Given the description of an element on the screen output the (x, y) to click on. 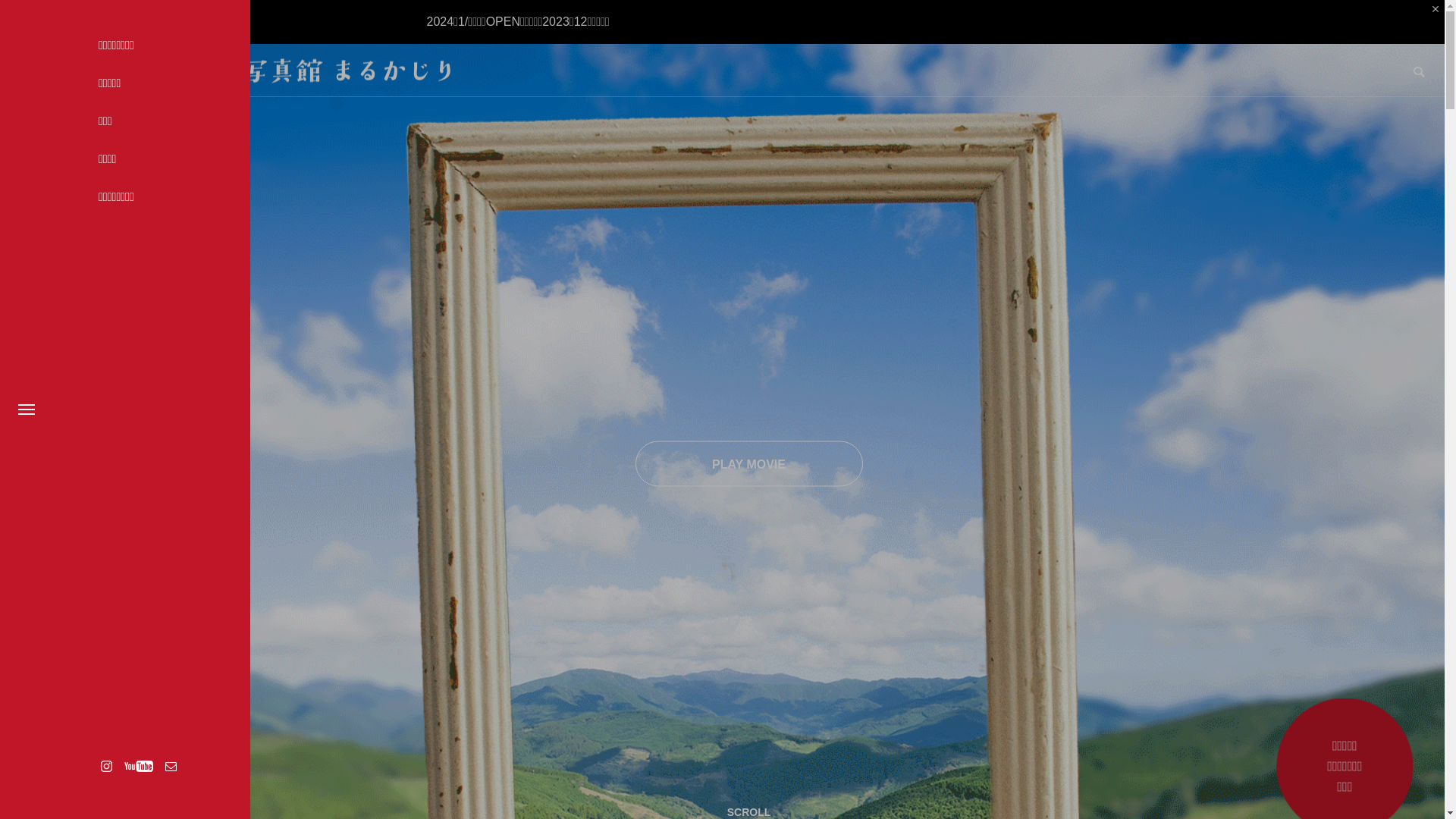
PLAY MOVIE Element type: text (748, 463)
Youtube Element type: hover (138, 765)
Instagram Element type: hover (105, 765)
Contact Element type: hover (170, 765)
